Given the description of an element on the screen output the (x, y) to click on. 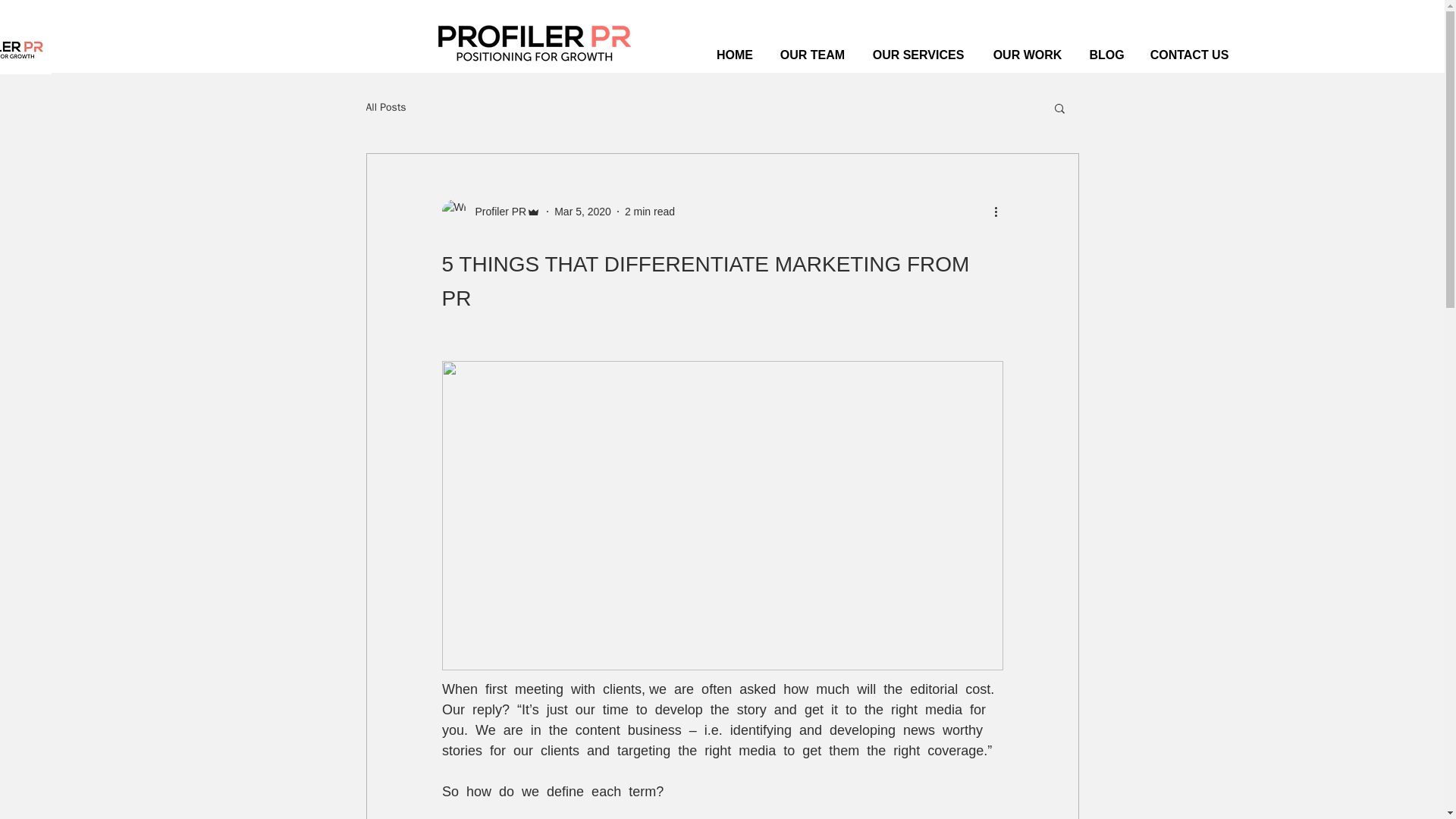
Profiler PR (490, 211)
HOME (735, 52)
OUR SERVICES (917, 52)
2 min read (649, 210)
OUR WORK (1027, 52)
Profiler PR (495, 211)
CONTACT US (1188, 52)
OUR TEAM (812, 52)
Mar 5, 2020 (582, 210)
All Posts (385, 107)
